Given the description of an element on the screen output the (x, y) to click on. 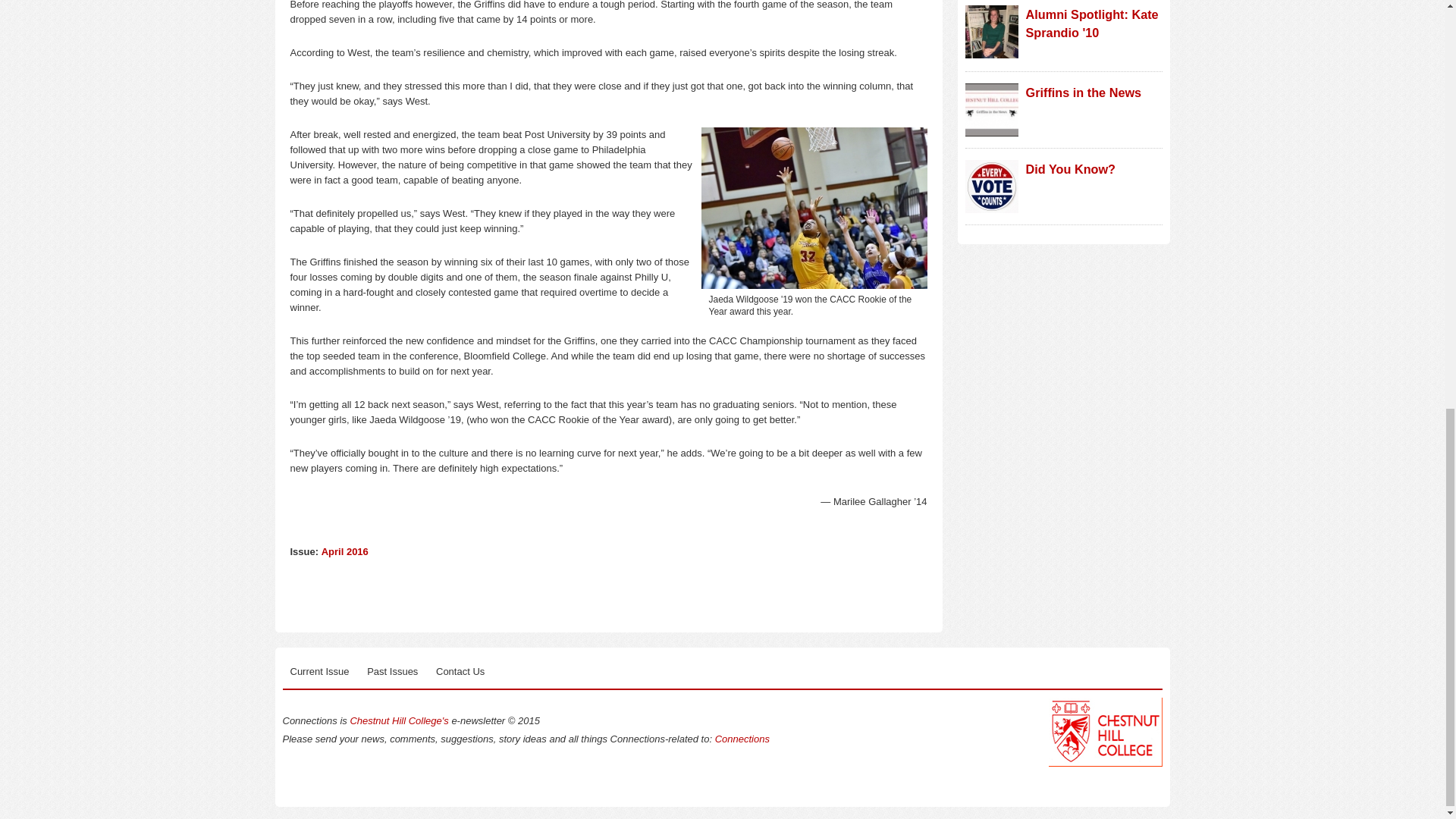
April 2016 (344, 551)
Alumni Spotlight: Kate Sprandio '10 (1091, 23)
Contact Us (460, 671)
Past Issues of e-Newsletter (392, 671)
